Given the description of an element on the screen output the (x, y) to click on. 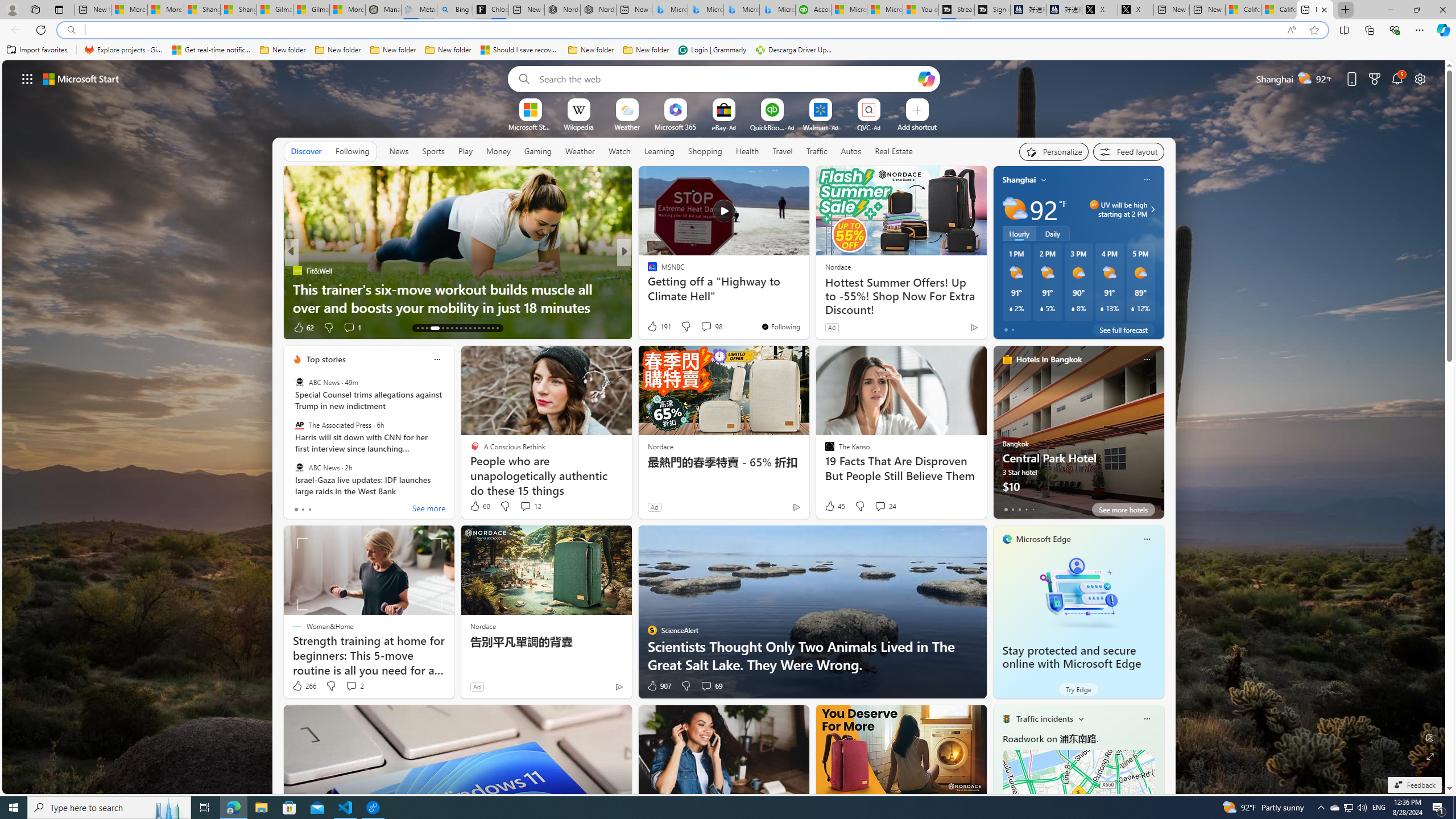
Microsoft Bing Travel - Stays in Bangkok, Bangkok, Thailand (705, 9)
View comments 1 Comment (702, 327)
Earth (647, 270)
View comments 3 Comment (703, 327)
Chloe Sorvino (490, 9)
Reader's Digest (647, 270)
Stay protected and secure online with Microsoft Edge (1077, 592)
Enter your search term (726, 78)
Login | Grammarly (712, 49)
